Given the description of an element on the screen output the (x, y) to click on. 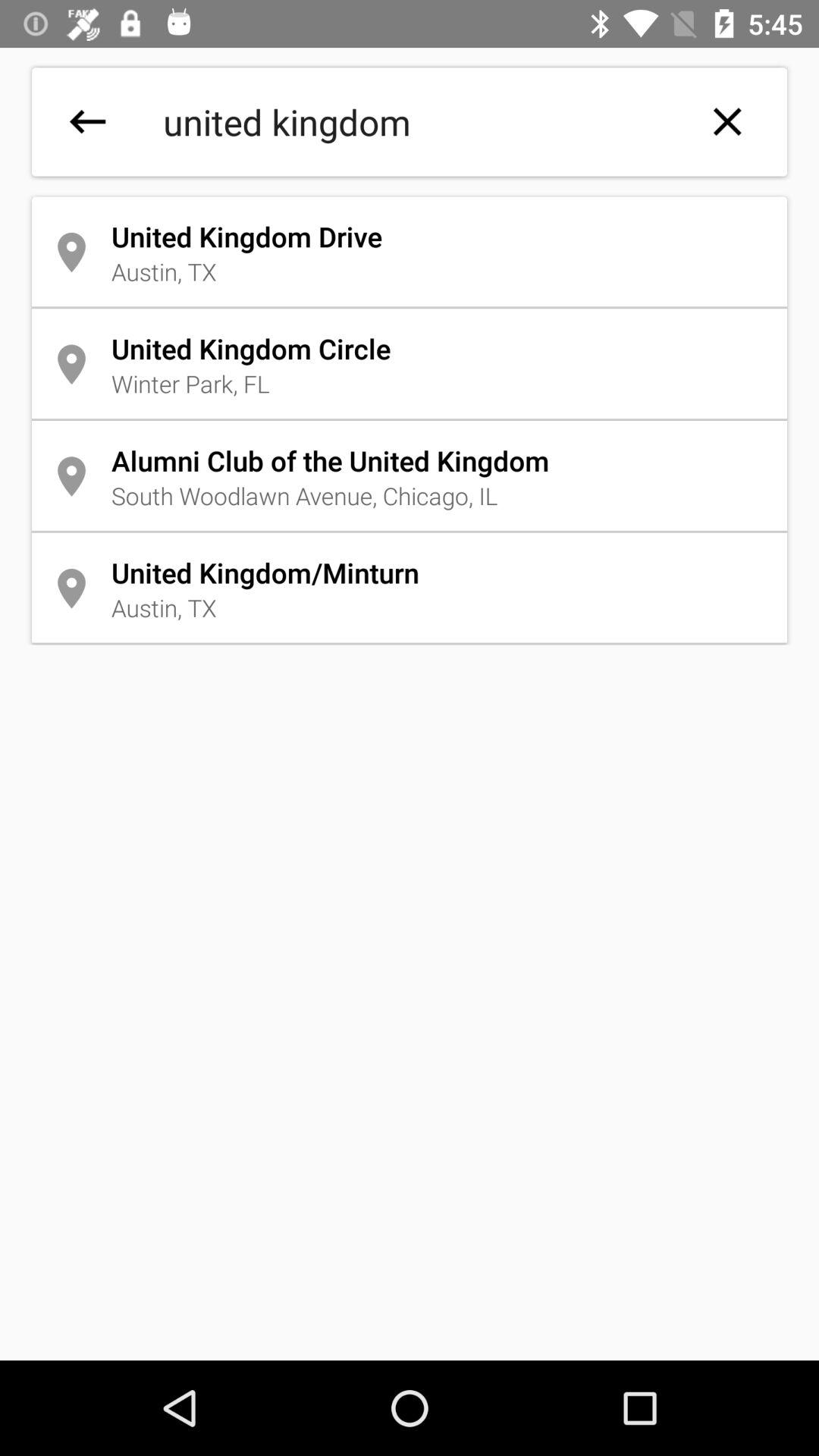
previouse (87, 121)
